Given the description of an element on the screen output the (x, y) to click on. 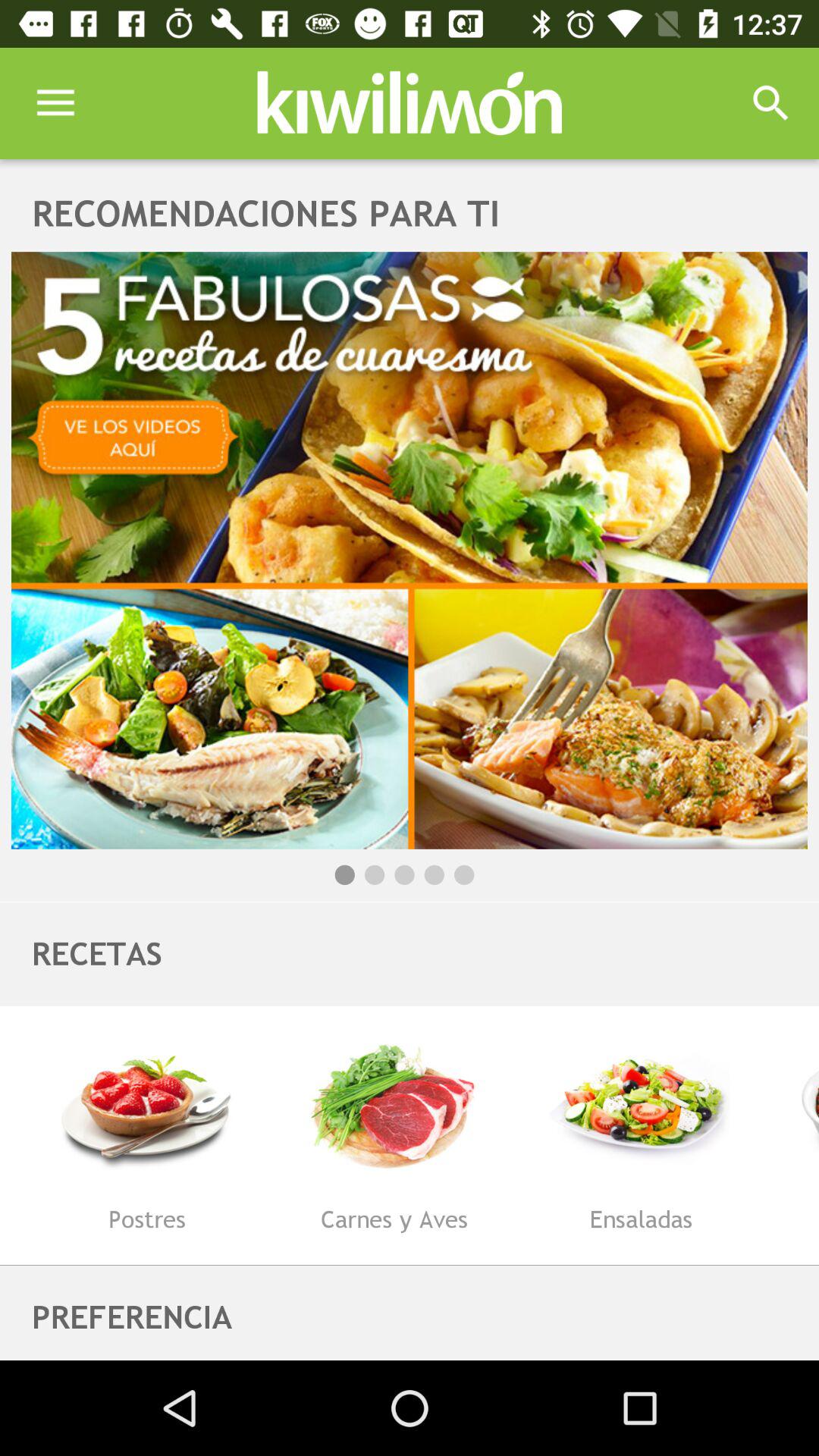
click icon at the top left corner (55, 103)
